Given the description of an element on the screen output the (x, y) to click on. 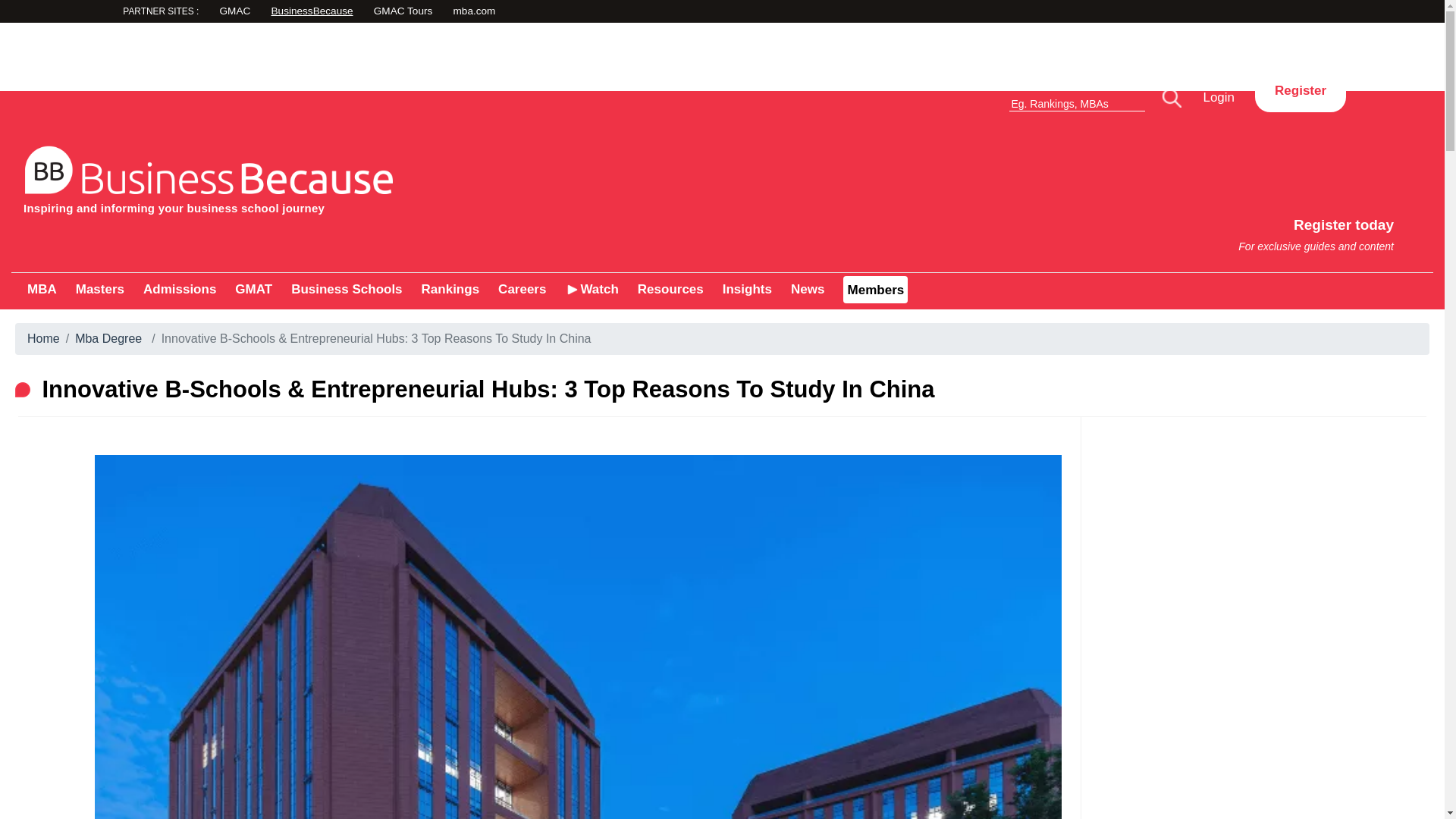
Inspiring and informing your business school journey (367, 176)
3rd party ad content (721, 56)
Admissions (178, 288)
MBA (41, 288)
PARTNER SITES : (189, 12)
Business Schools (346, 288)
Rankings (451, 288)
3rd party ad content (1089, 227)
BusinessBecause (1261, 526)
Masters (367, 12)
Register (99, 288)
GMAT (1300, 90)
mba.com (253, 288)
GMAC Tours (558, 12)
